Given the description of an element on the screen output the (x, y) to click on. 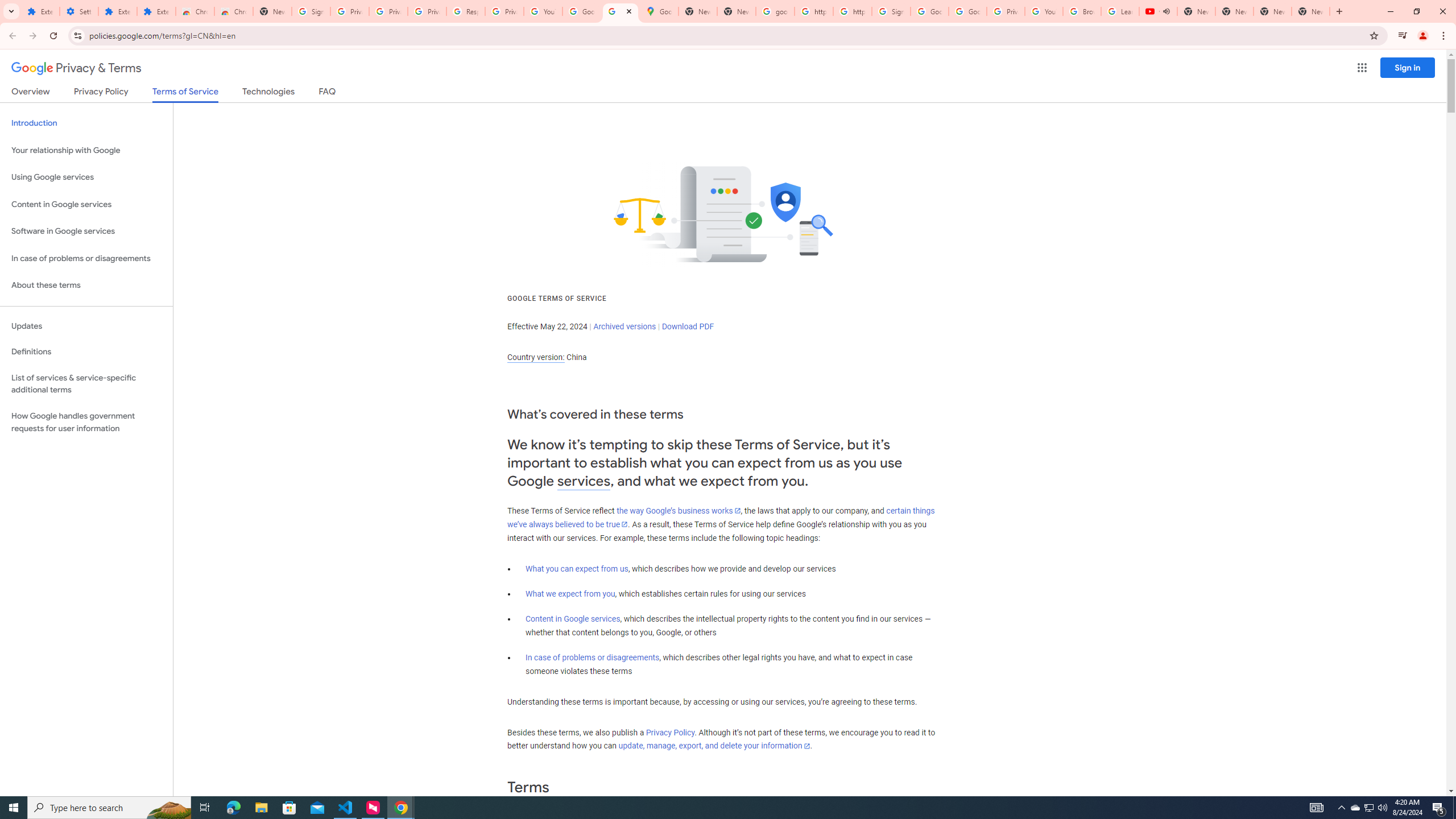
Content in Google services (572, 618)
New Tab (272, 11)
services (583, 480)
Sign in - Google Accounts (310, 11)
Country version: (535, 357)
Using Google services (86, 176)
